Given the description of an element on the screen output the (x, y) to click on. 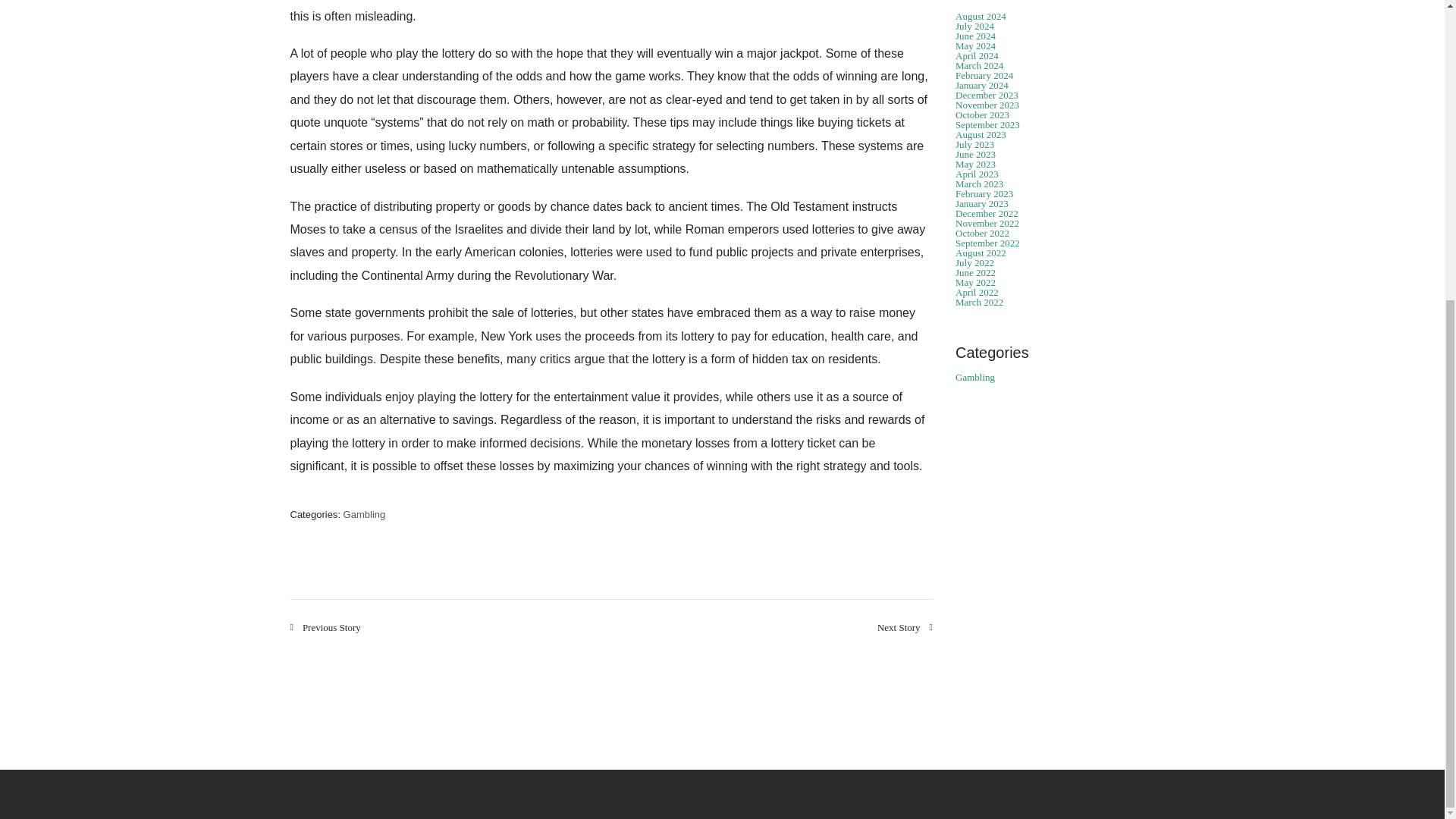
Previous Story (324, 627)
October 2023 (982, 114)
June 2024 (975, 35)
Next Story (905, 627)
March 2024 (979, 65)
December 2023 (986, 94)
August 2023 (980, 134)
November 2023 (987, 104)
April 2023 (976, 173)
May 2023 (975, 163)
